Given the description of an element on the screen output the (x, y) to click on. 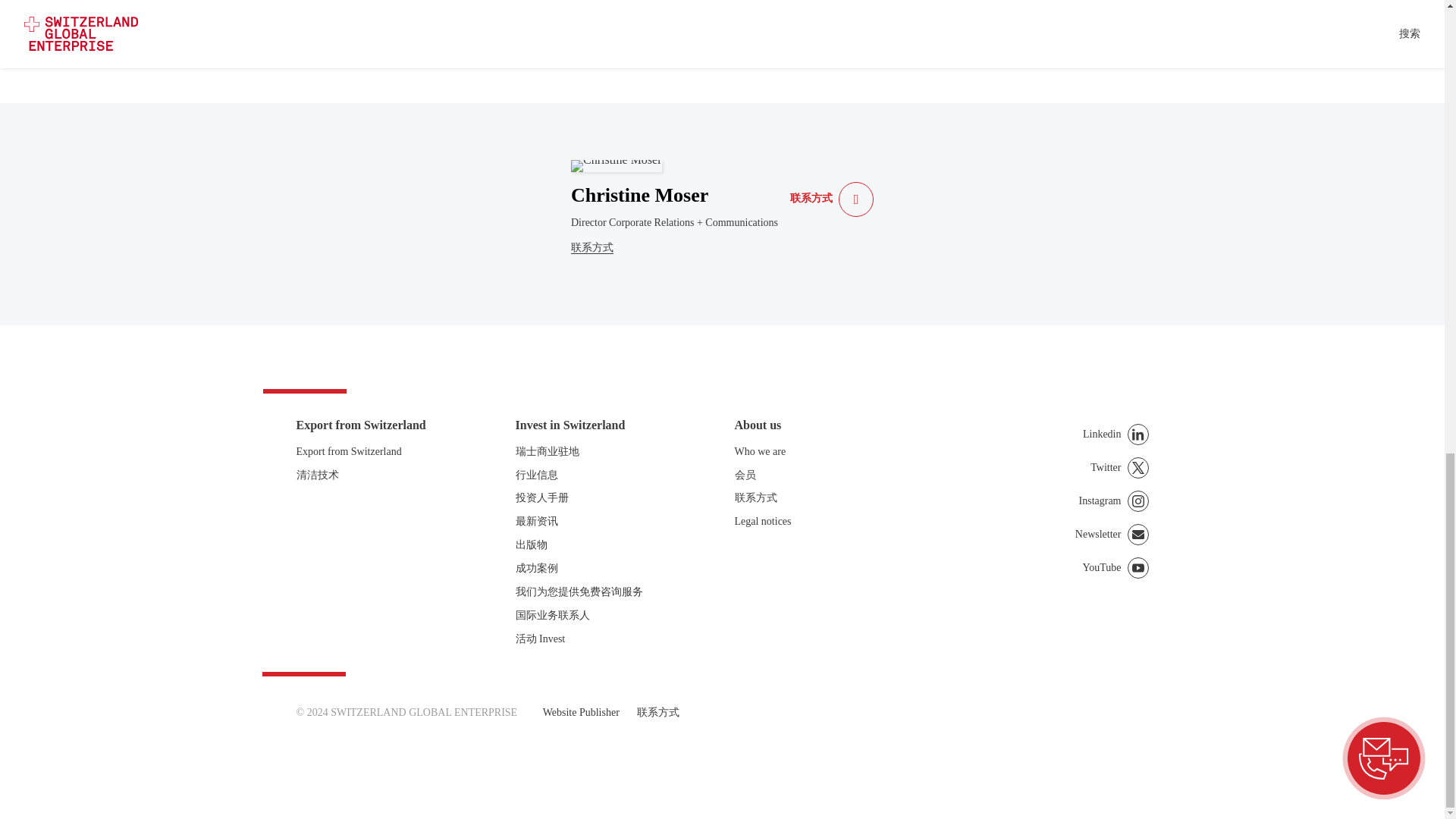
Export from Switzerland (387, 452)
Legal notices (825, 522)
Who we are (825, 452)
Export from Switzerland (387, 452)
